Given the description of an element on the screen output the (x, y) to click on. 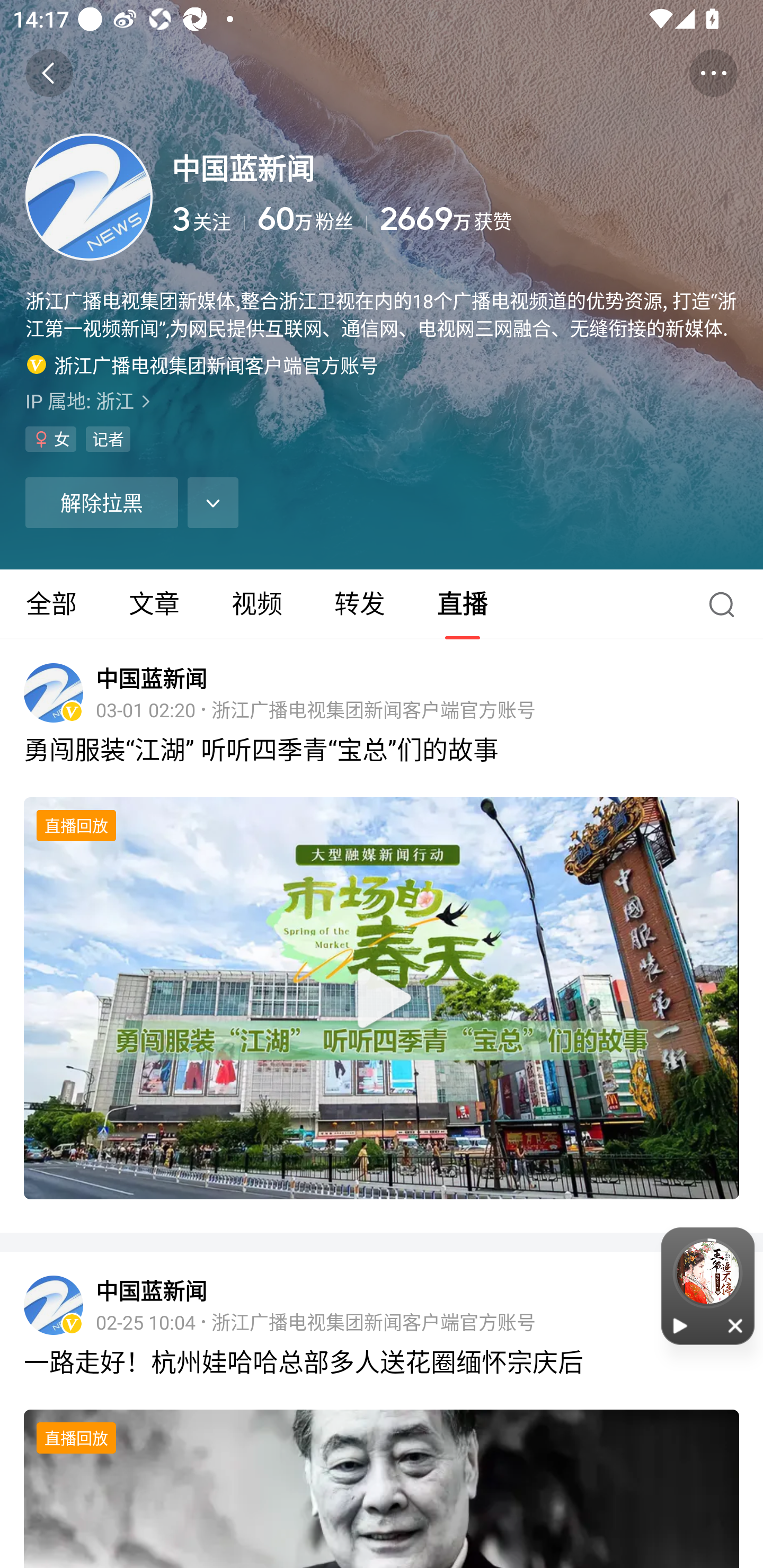
返回 (49, 72)
更多操作 (713, 72)
头像 (88, 196)
3 关注 (207, 219)
60万 粉丝 (311, 219)
2669万 获赞 (558, 219)
浙江广播电视集团新闻客户端官方账号 (202, 364)
IP 属地: 浙江 (381, 400)
性别女 女 (50, 438)
记者 (107, 438)
解除拉黑 (101, 502)
展开相关推荐，按钮 (212, 502)
全部 (51, 604)
文章 (154, 604)
视频 (256, 604)
转发 (359, 604)
直播 (462, 604)
搜索 (726, 604)
中国蓝新闻头像 (53, 692)
中国蓝新闻 (151, 678)
03-01 02:20 (145, 709)
浙江广播电视集团新闻客户端官方账号 (373, 709)
播放 关闭 (708, 1286)
中国蓝新闻头像 (53, 1305)
中国蓝新闻 (151, 1291)
播放 (680, 1325)
关闭 (736, 1325)
02-25 10:04 (145, 1321)
浙江广播电视集团新闻客户端官方账号 (373, 1321)
